Given the description of an element on the screen output the (x, y) to click on. 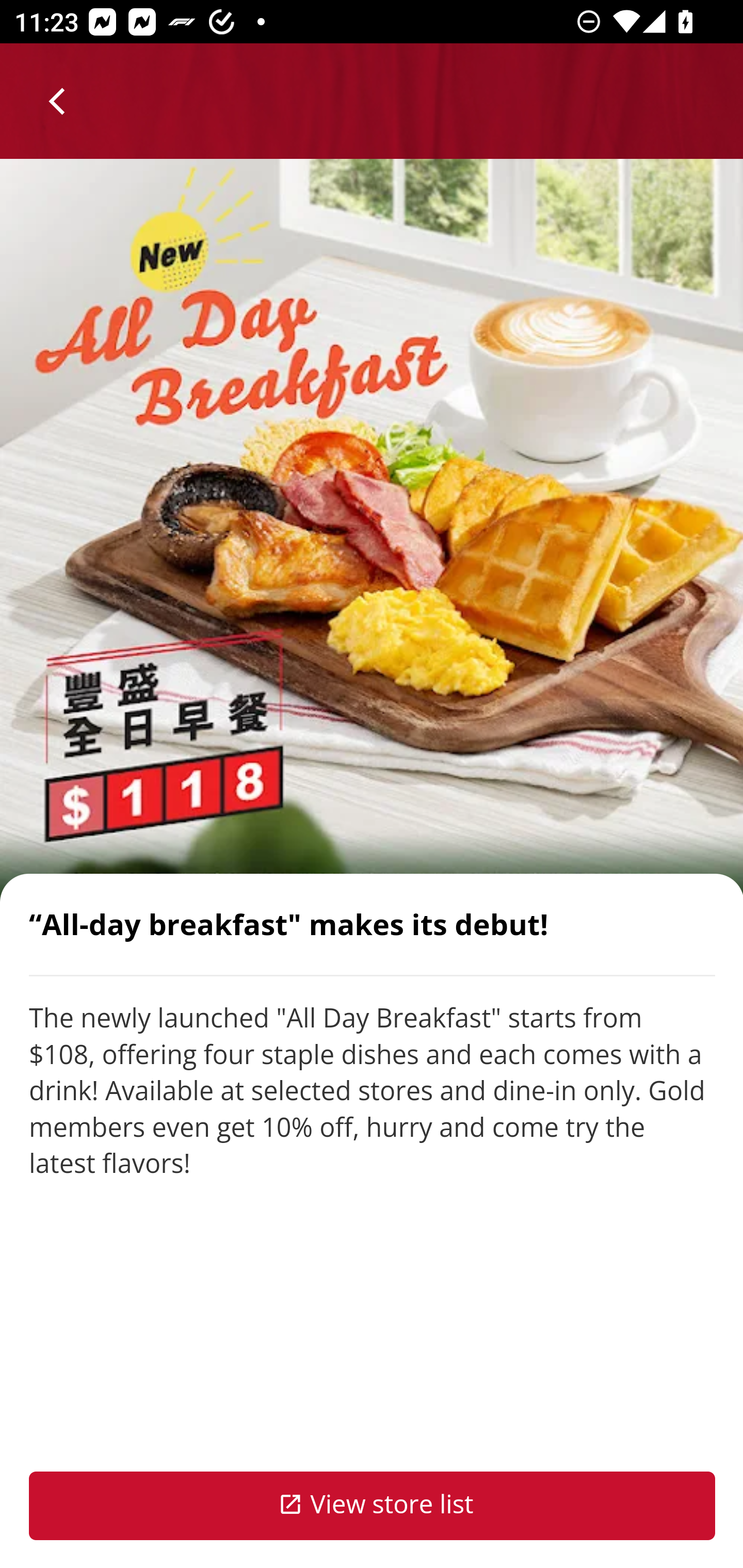
menu (58, 100)
open_in_new View store list (372, 1505)
